Given the description of an element on the screen output the (x, y) to click on. 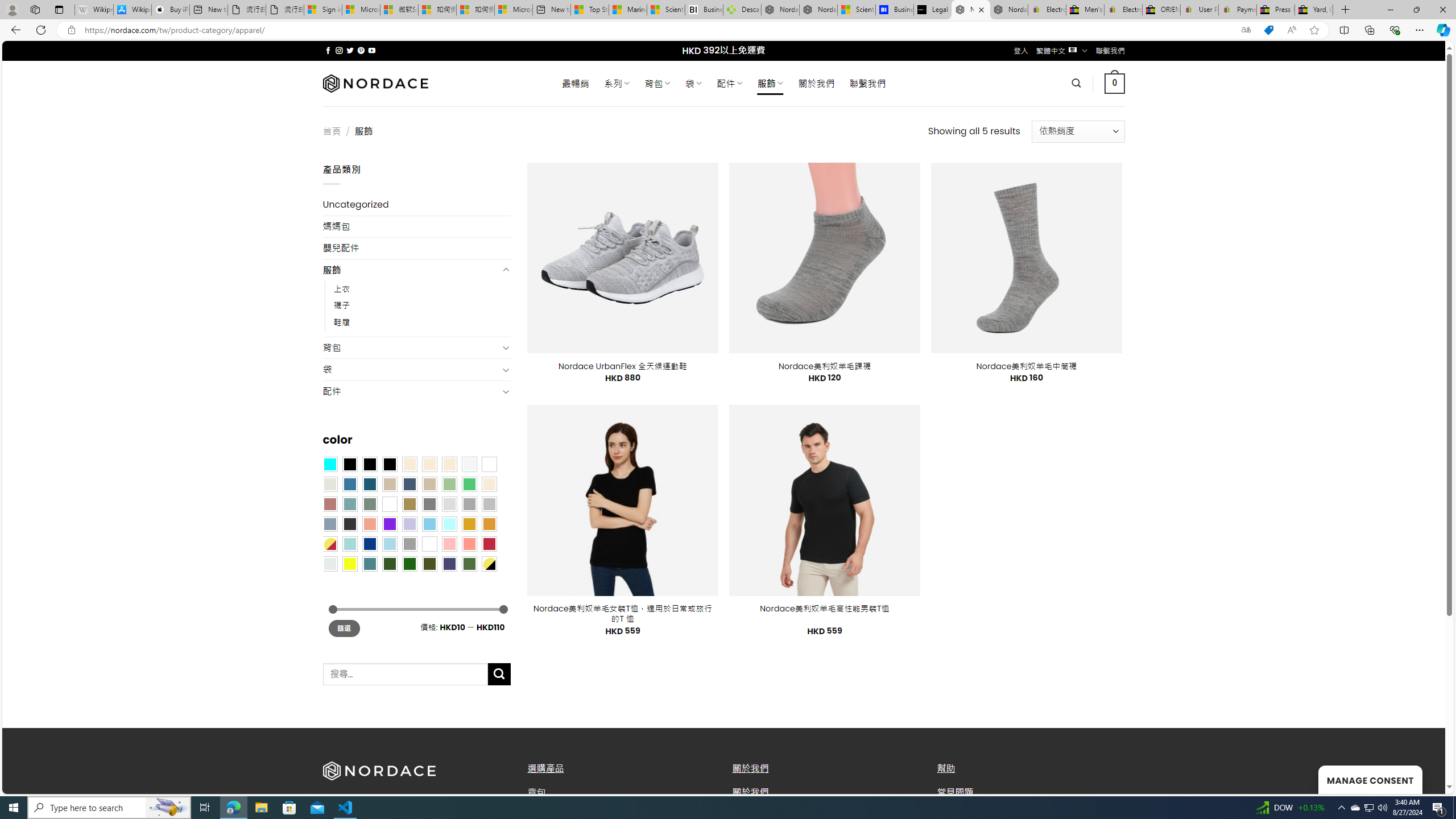
Uncategorized (416, 204)
